Given the description of an element on the screen output the (x, y) to click on. 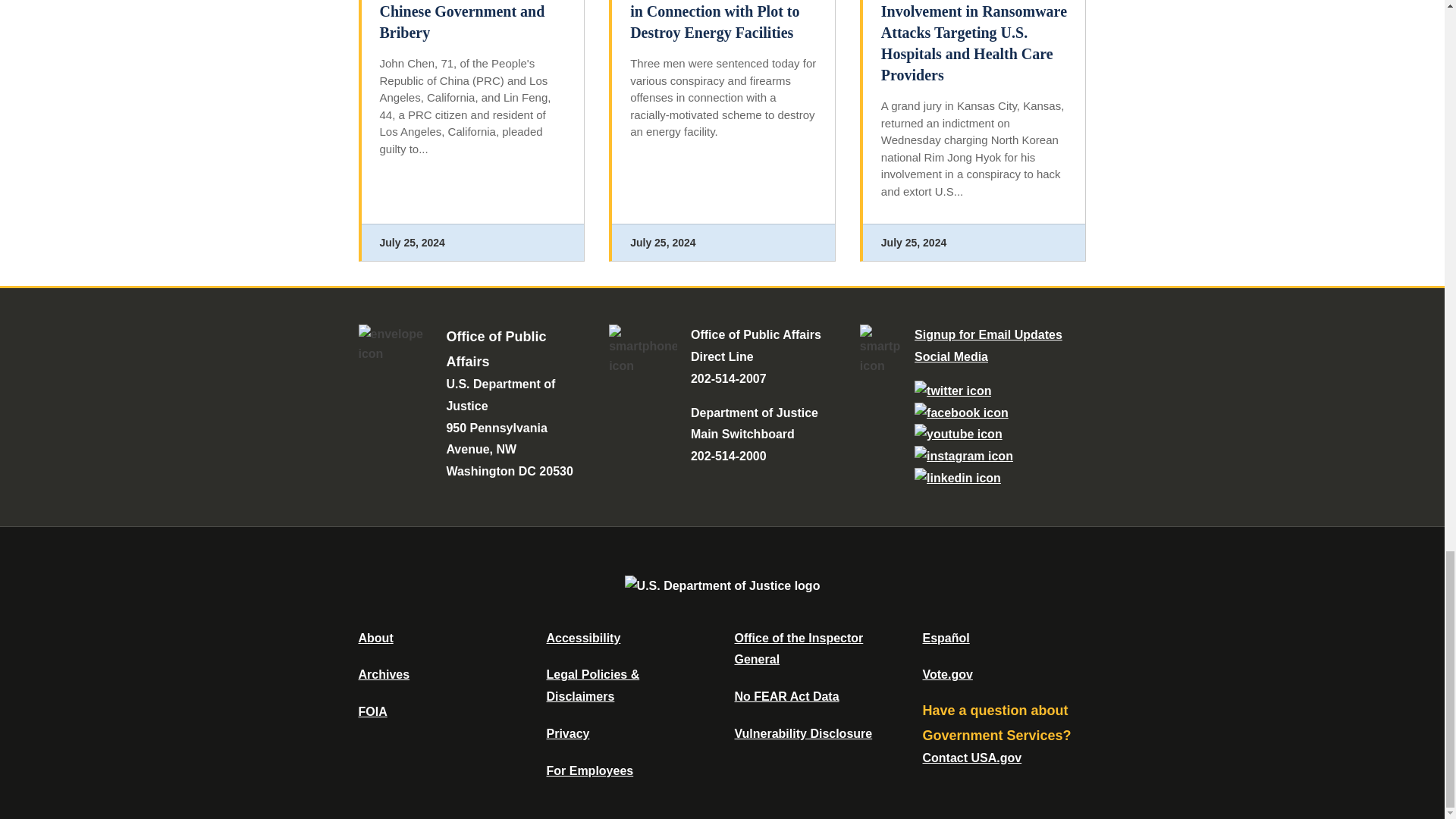
Accessibility Statement (583, 637)
Data Posted Pursuant To The No Fear Act (785, 696)
About DOJ (375, 637)
Office of Information Policy (372, 711)
Department of Justice Archive (383, 674)
Legal Policies and Disclaimers (592, 685)
For Employees (589, 770)
